Given the description of an element on the screen output the (x, y) to click on. 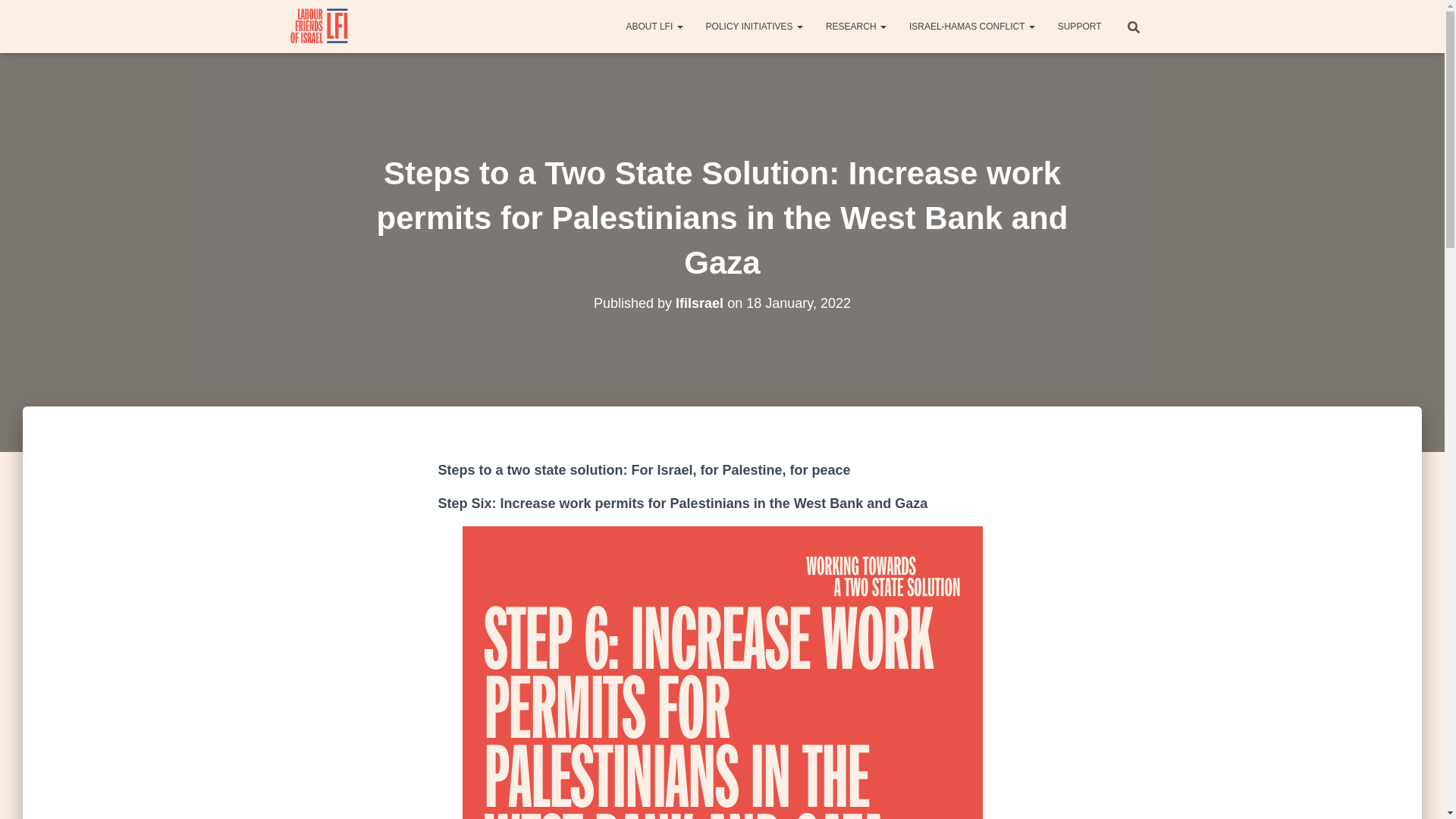
RESEARCH (855, 26)
lfiIsrael (699, 303)
Research (855, 26)
Search (16, 16)
ISRAEL-HAMAS CONFLICT (972, 26)
Policy Initiatives (753, 26)
Labour Friends of Israel (320, 26)
ABOUT LFI (654, 26)
SUPPORT (1079, 26)
POLICY INITIATIVES (753, 26)
About LFI (654, 26)
